Given the description of an element on the screen output the (x, y) to click on. 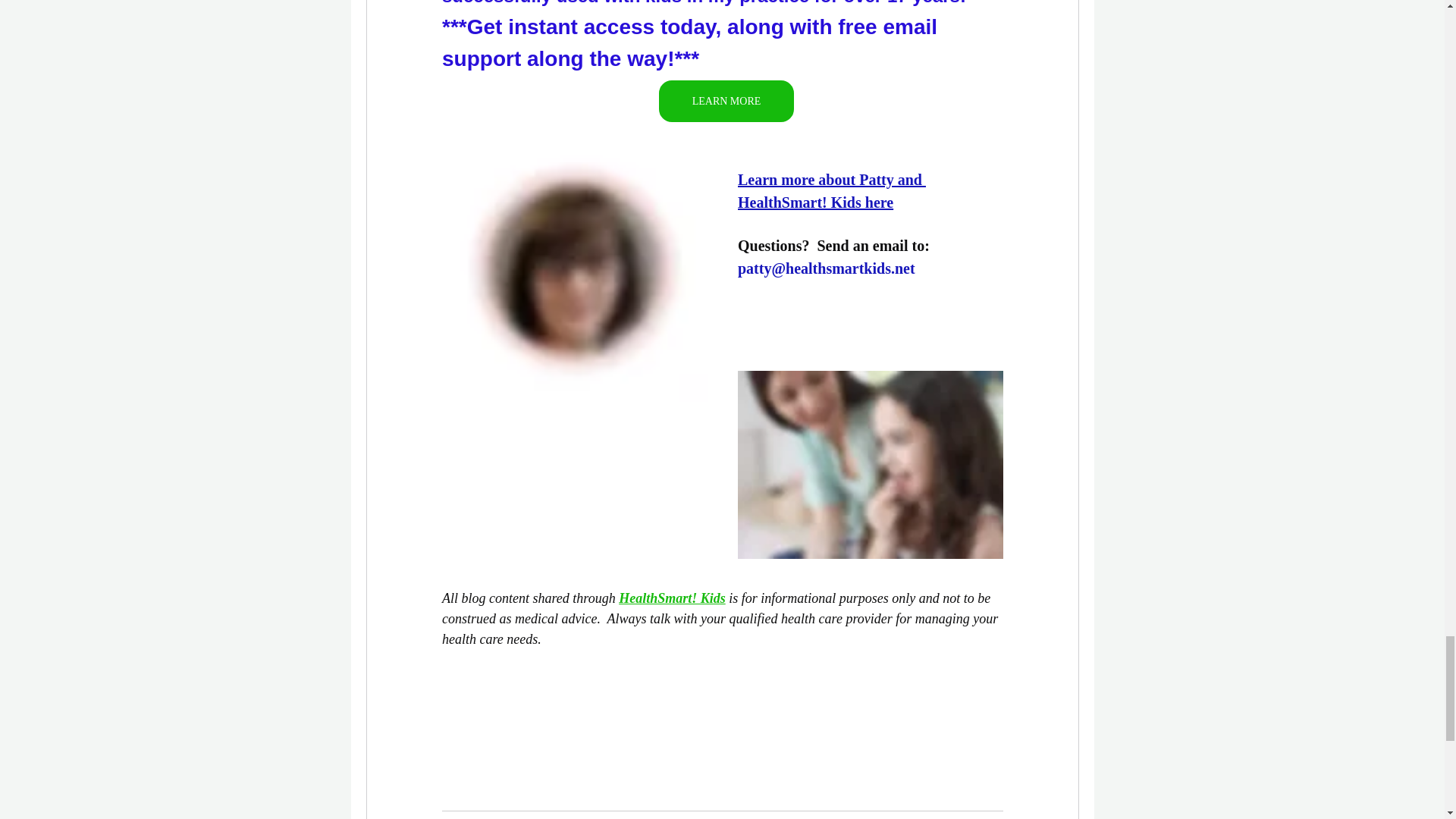
HealthSmart! Kids (671, 598)
Learn more about Patty and HealthSmart! Kids here (830, 191)
LEARN MORE (725, 101)
